Given the description of an element on the screen output the (x, y) to click on. 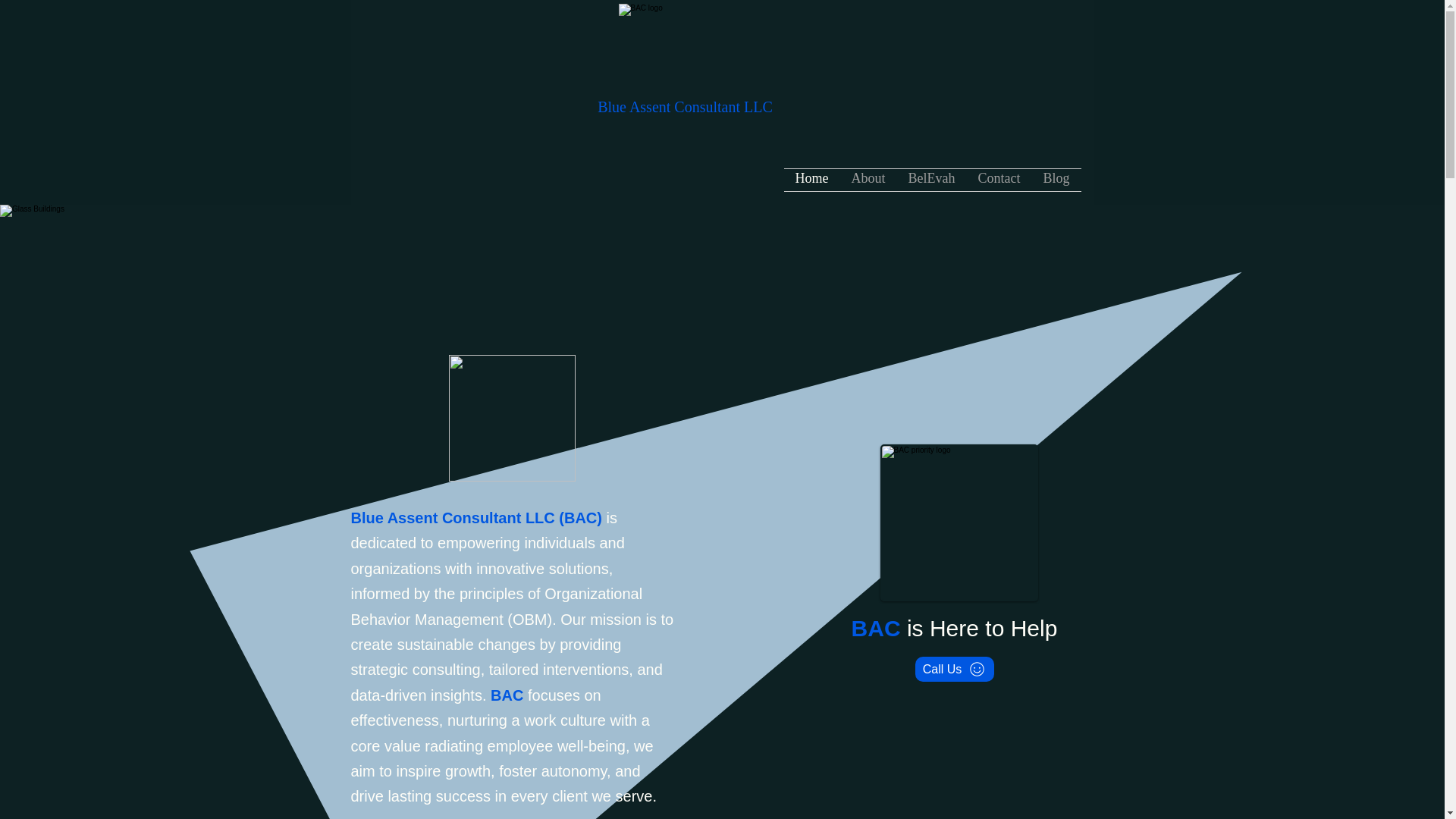
About (868, 179)
Home (812, 179)
Call Us (953, 668)
Contact (998, 179)
Blog (1055, 179)
BelEvah (931, 179)
